Given the description of an element on the screen output the (x, y) to click on. 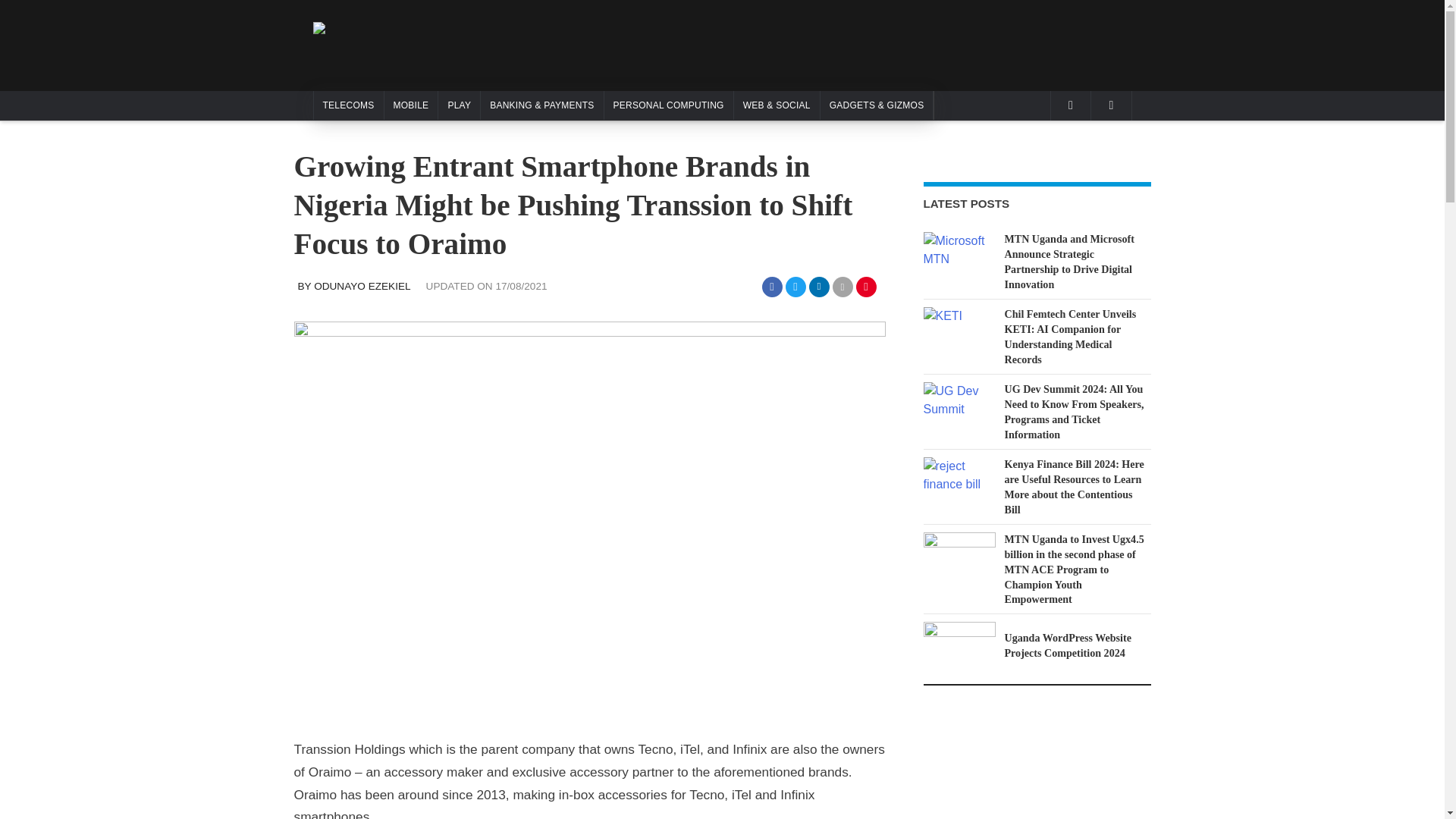
Share by Email (842, 286)
